Given the description of an element on the screen output the (x, y) to click on. 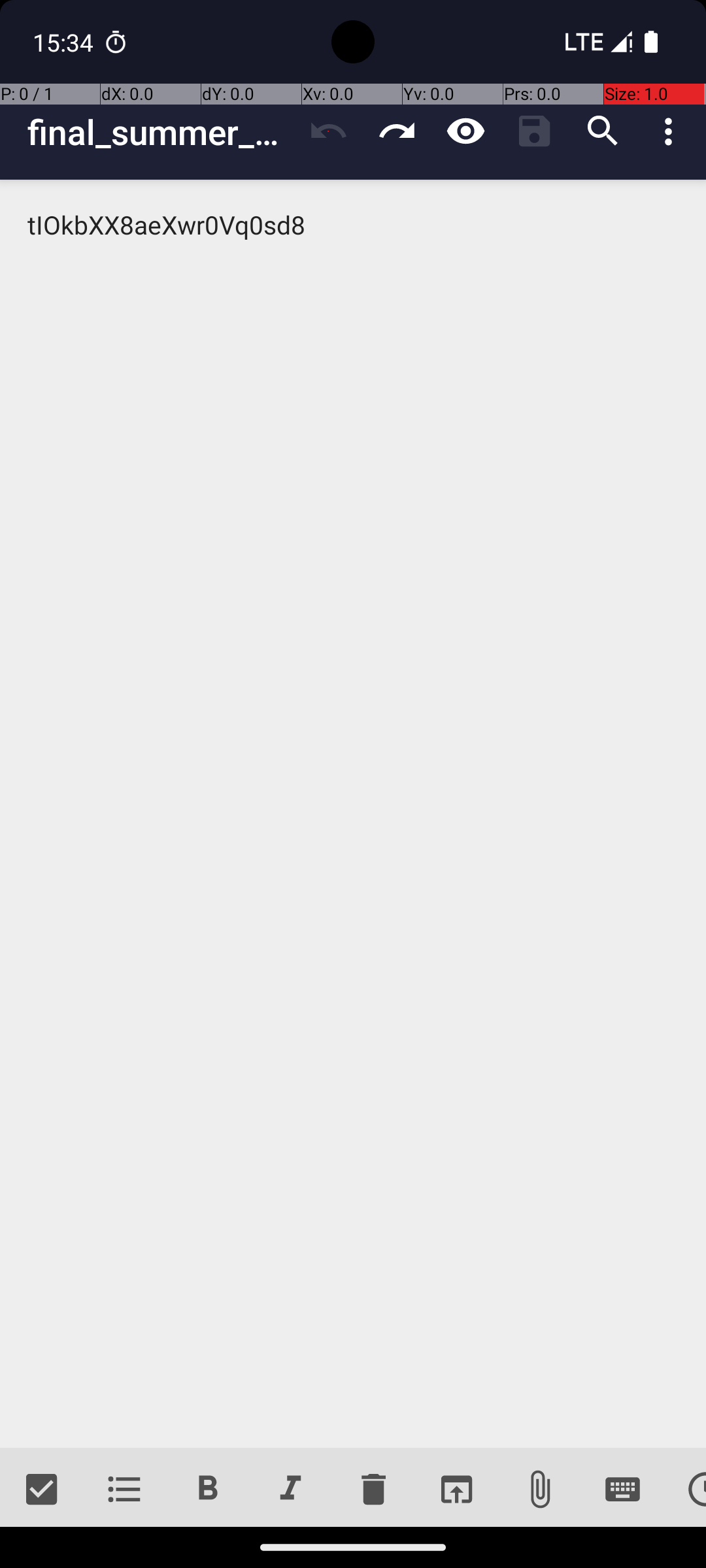
final_summer_vacation_plans Element type: android.widget.TextView (160, 131)
tIOkbXX8aeXwr0Vq0sd8
10/15/23 Element type: android.widget.EditText (353, 813)
